Given the description of an element on the screen output the (x, y) to click on. 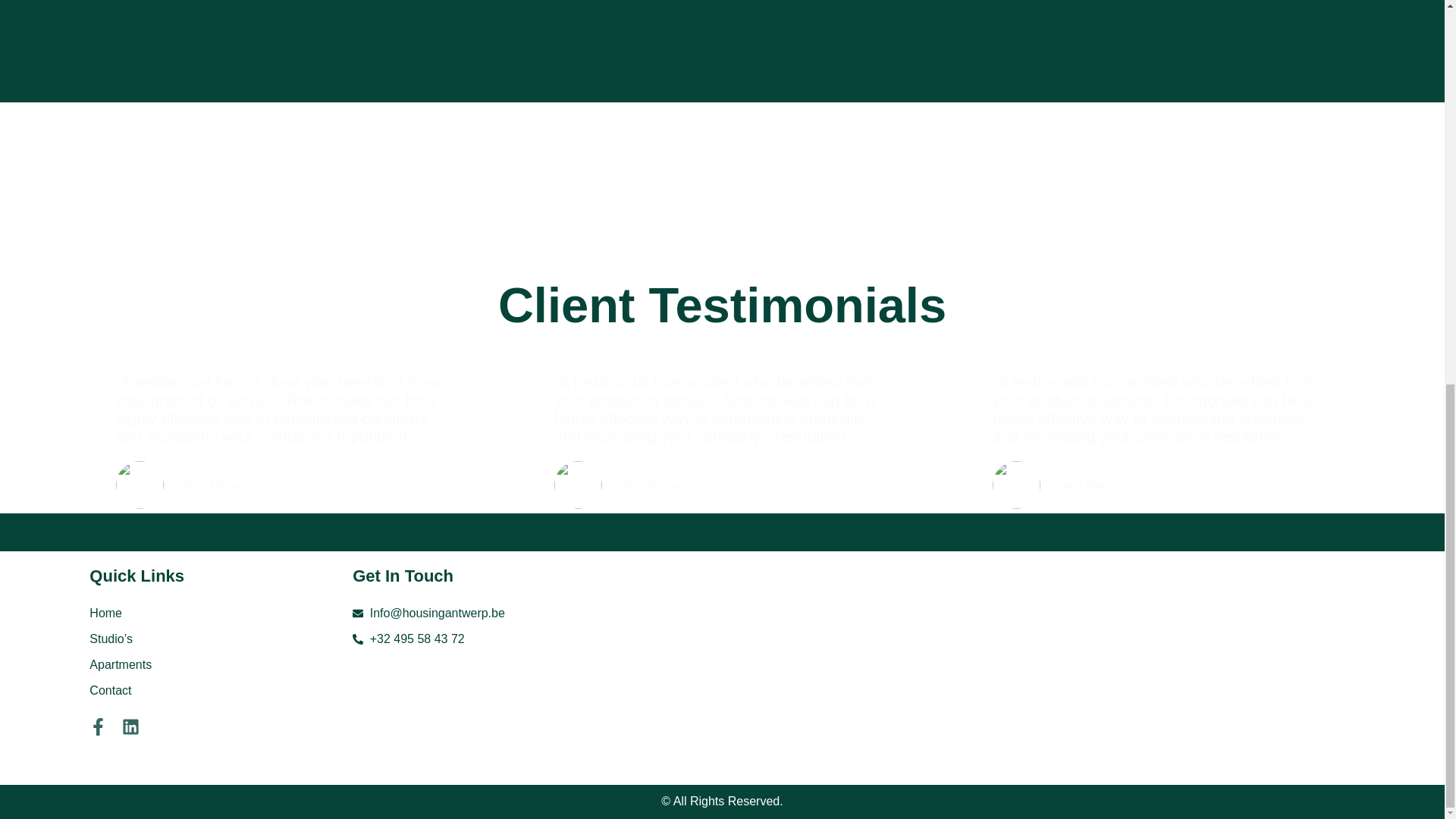
Contact (196, 690)
Apartments (196, 665)
Home (196, 613)
